Given the description of an element on the screen output the (x, y) to click on. 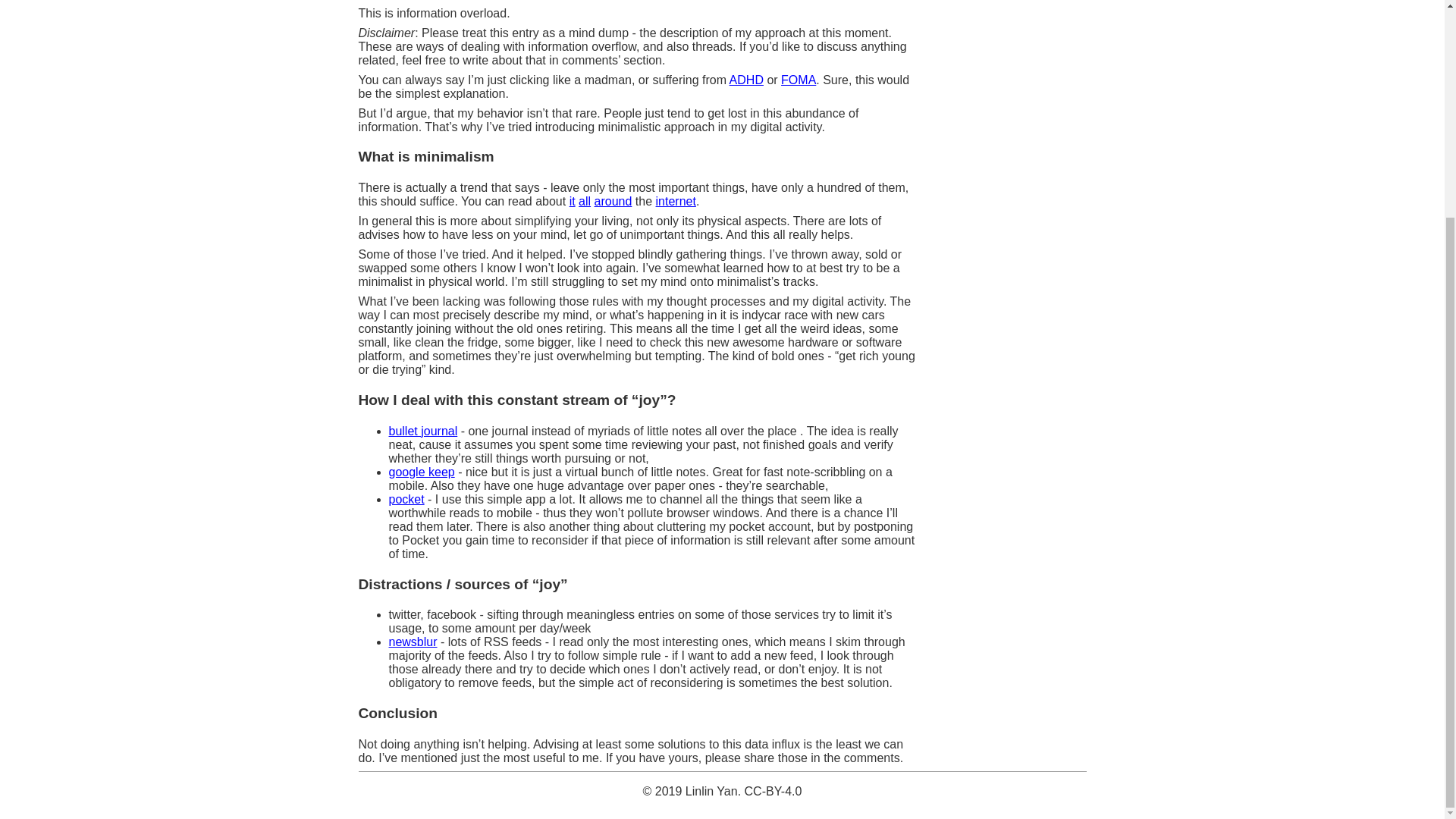
pocket (405, 499)
newsblur (412, 641)
internet (675, 201)
all (584, 201)
bullet journal (422, 431)
around (612, 201)
google keep (421, 472)
